Given the description of an element on the screen output the (x, y) to click on. 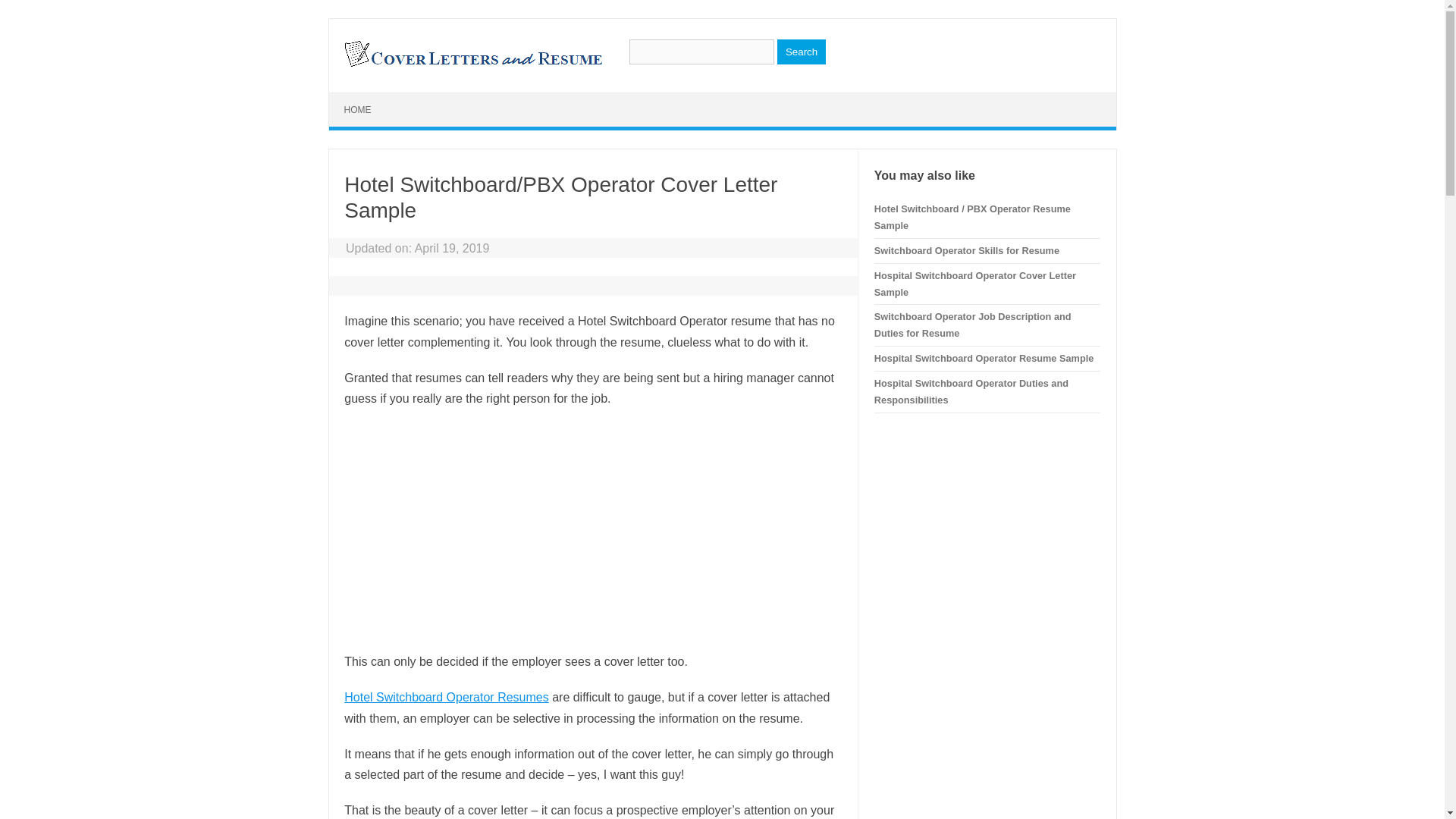
Switchboard Operator Skills for Resume (967, 250)
Search (801, 51)
Hotel Switchboard Operator Resumes (445, 697)
HOME (358, 109)
Hospital Switchboard Operator Cover Letter Sample (975, 284)
Cover Letters and Resume Samples (471, 65)
Search (801, 51)
Hospital Switchboard Operator Duties and Responsibilities (971, 391)
Hospital Switchboard Operator Resume Sample (984, 357)
Switchboard Operator Job Description and Duties for Resume (973, 325)
Advertisement (592, 530)
